Given the description of an element on the screen output the (x, y) to click on. 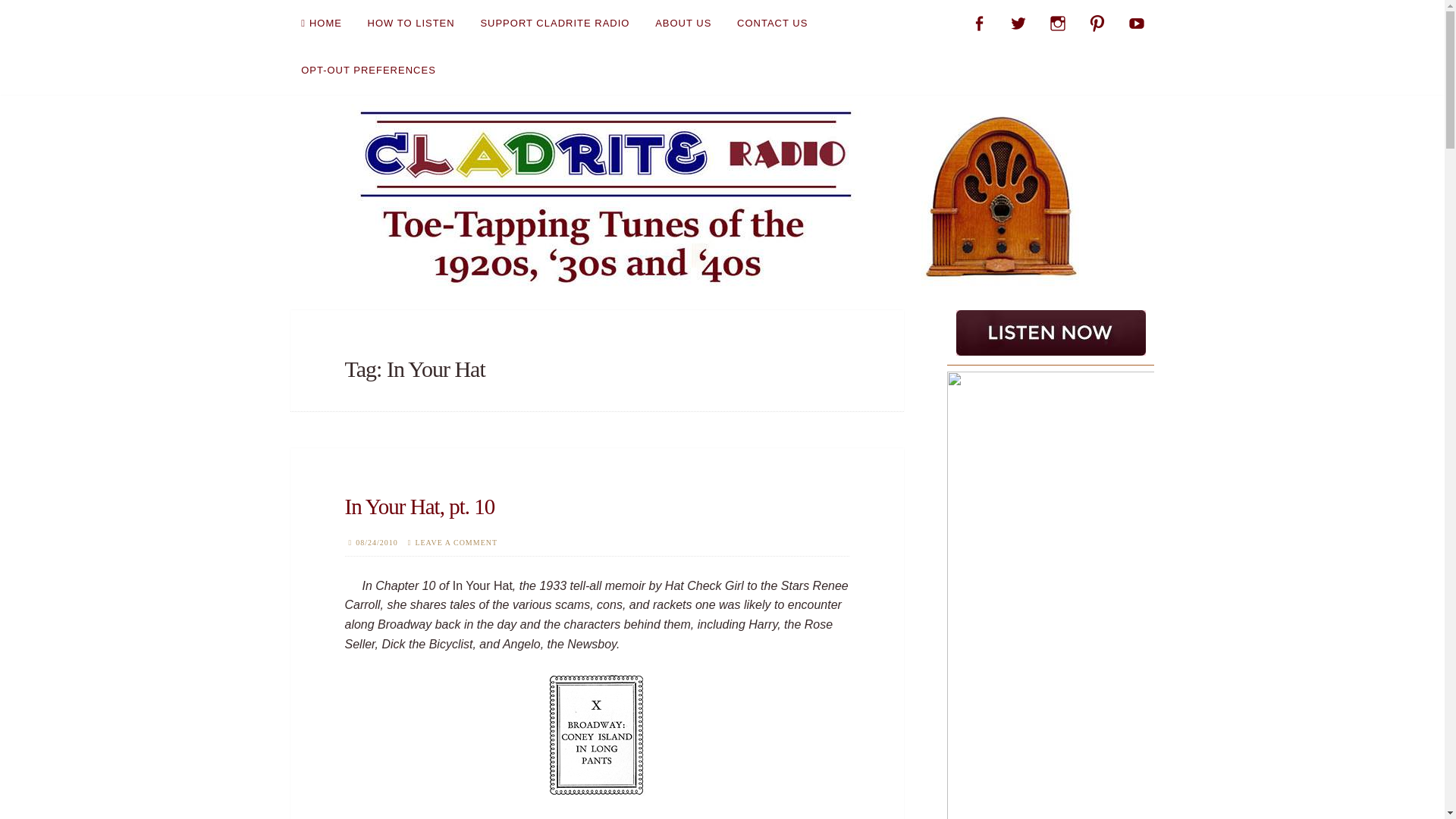
HOW TO LISTEN (410, 23)
facebook (978, 23)
In Your Hat, pt. 10 (419, 506)
LEAVE A COMMENT (455, 542)
youtube (1136, 23)
pinterest (1096, 23)
SUPPORT CLADRITE RADIO (554, 23)
HOME (320, 23)
inst (1057, 23)
ABOUT US (683, 23)
CONTACT US (771, 23)
OPT-OUT PREFERENCES (367, 70)
twitter (1018, 23)
